Given the description of an element on the screen output the (x, y) to click on. 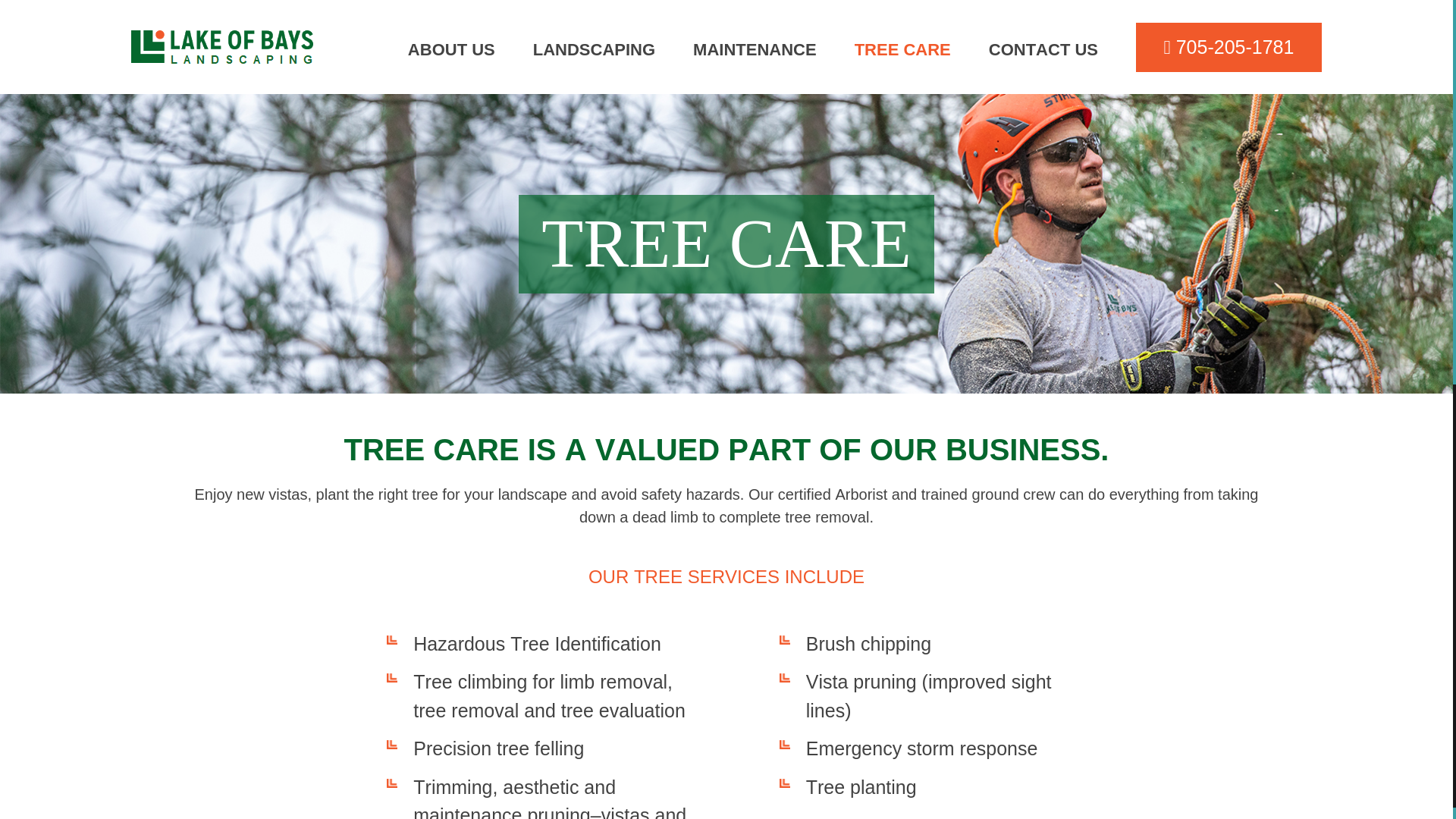
MAINTENANCE (754, 49)
CONTACT US (1042, 49)
LANDSCAPING (593, 49)
ABOUT US (451, 49)
TREE CARE (902, 49)
705-205-1781 (1228, 47)
